Given the description of an element on the screen output the (x, y) to click on. 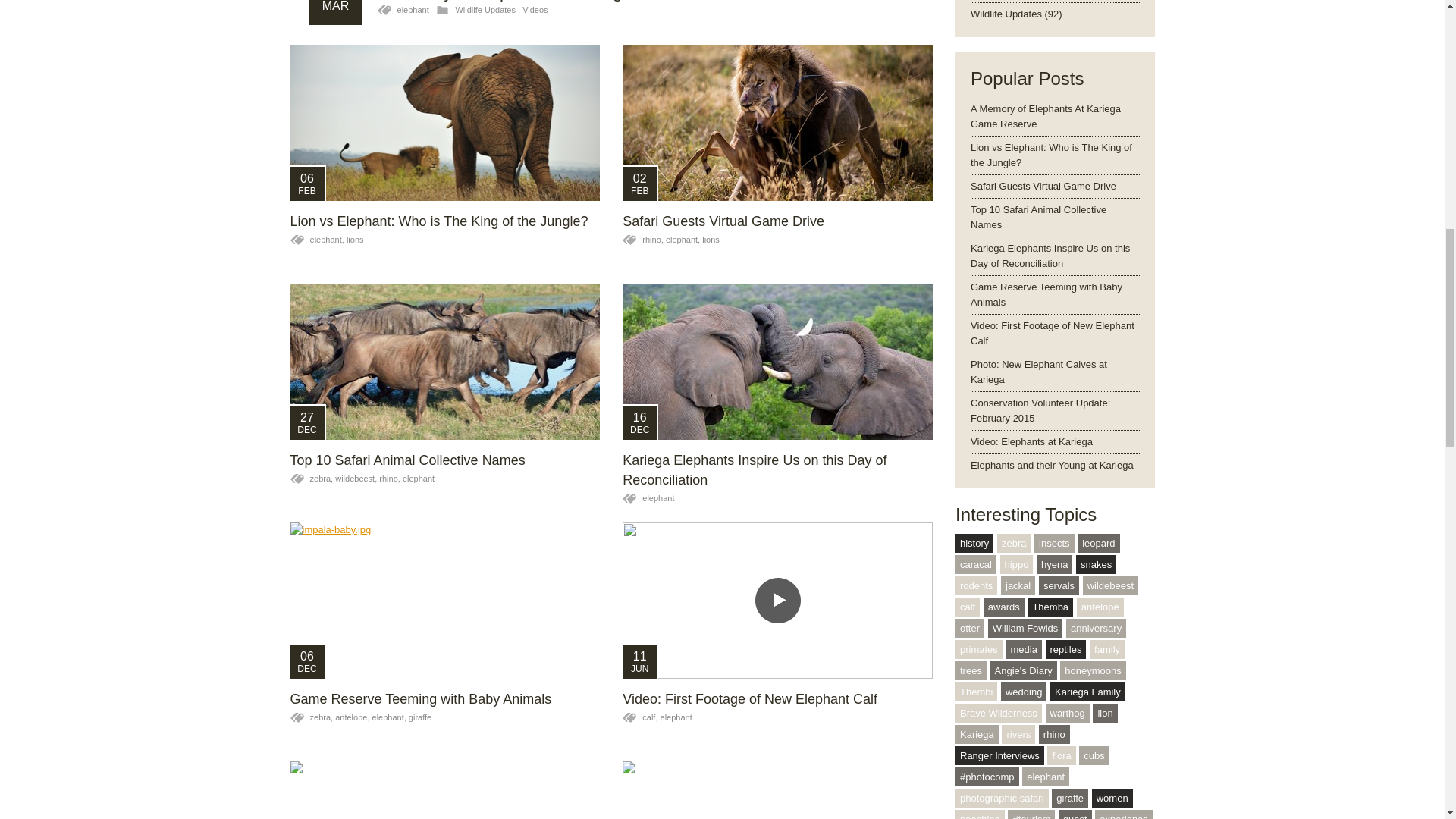
wildebeest-on-the-move.jpg (444, 361)
Kariega Elephantcalf1 Daniel Haesslich June2015 (444, 790)
Carlo Geminiani kariega game reserve elephant kisses.jpg (778, 361)
impala-baby.jpg (444, 600)
kariega-lion-elephant.jpg (444, 122)
Kariega River (778, 790)
kariega-lion-kill-christer-lovgren.jpg (778, 122)
